Given the description of an element on the screen output the (x, y) to click on. 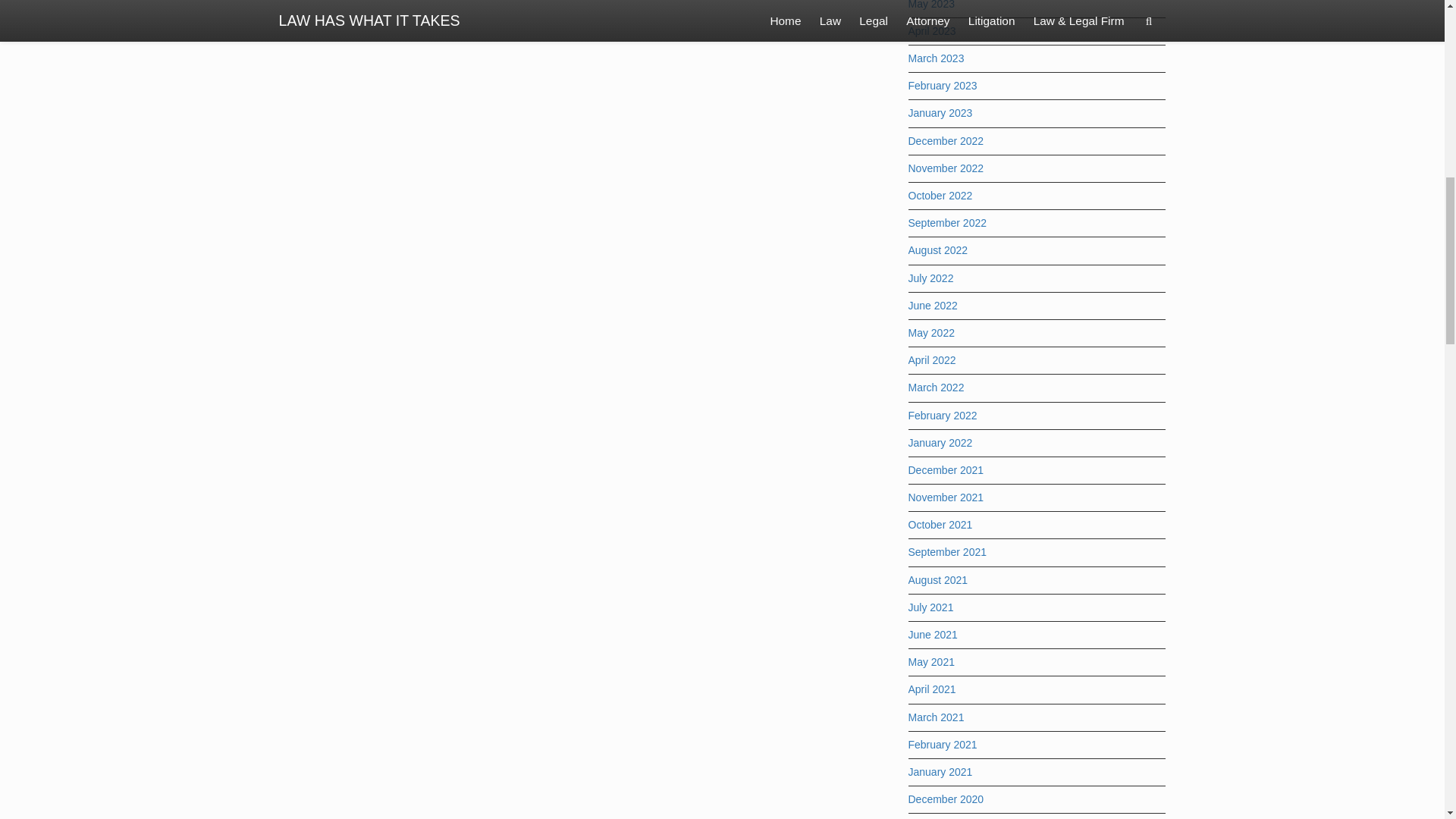
May 2023 (931, 4)
April 2023 (932, 30)
